Given the description of an element on the screen output the (x, y) to click on. 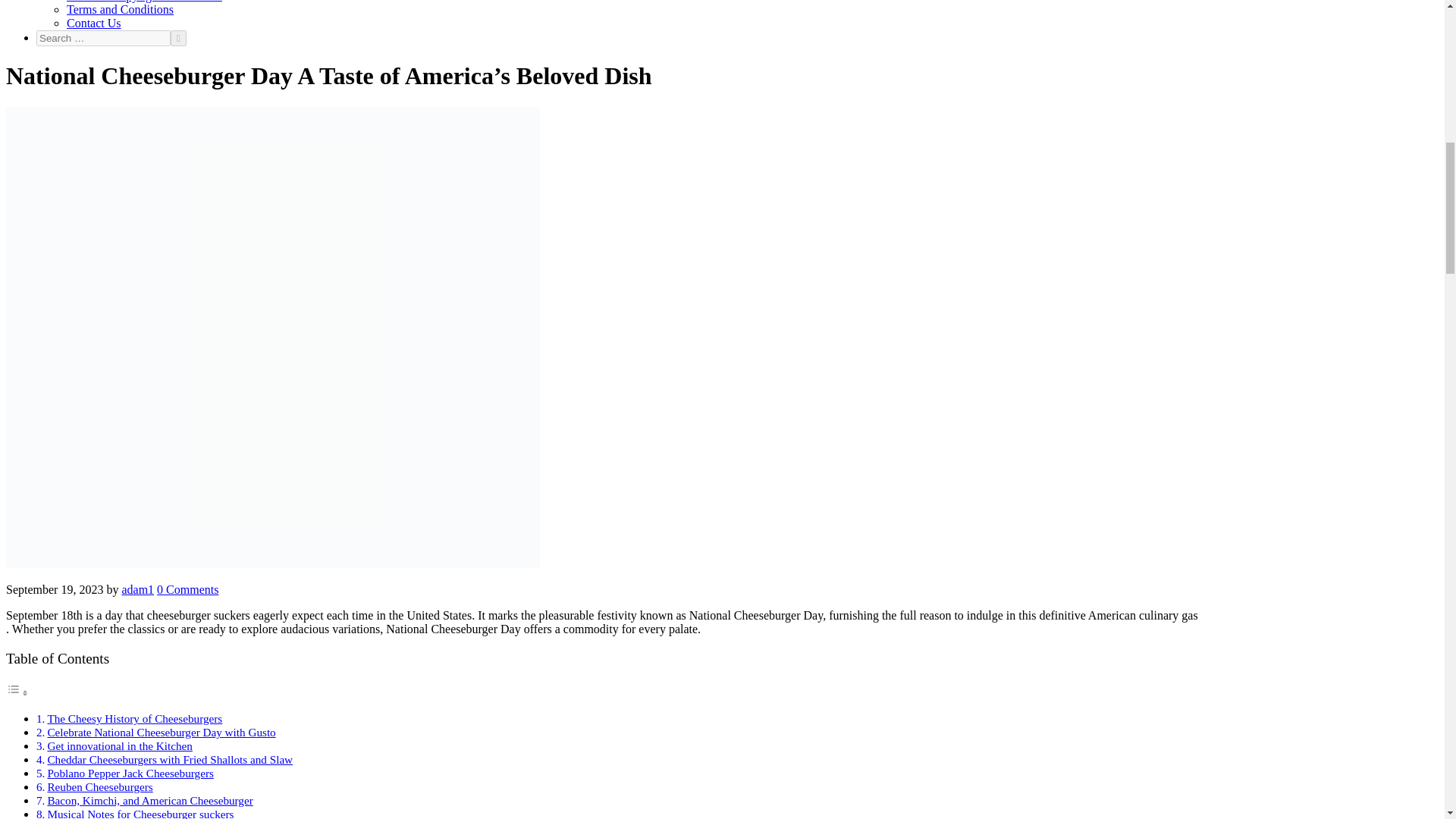
0 Comments (187, 589)
Bacon, Kimchi, and American Cheeseburger (148, 799)
adam1 (137, 589)
Poblano Pepper Jack Cheeseburgers (129, 772)
Cheddar Cheeseburgers with Fried Shallots and Slaw (169, 758)
Reuben Cheeseburgers (99, 786)
Musical Notes for Cheeseburger suckers (139, 813)
Contact Us (93, 22)
The Cheesy History of Cheeseburgers (134, 717)
Get innovational in the Kitchen (119, 745)
Terms and Conditions (119, 9)
Celebrate National Cheeseburger Day with Gusto (160, 731)
